Given the description of an element on the screen output the (x, y) to click on. 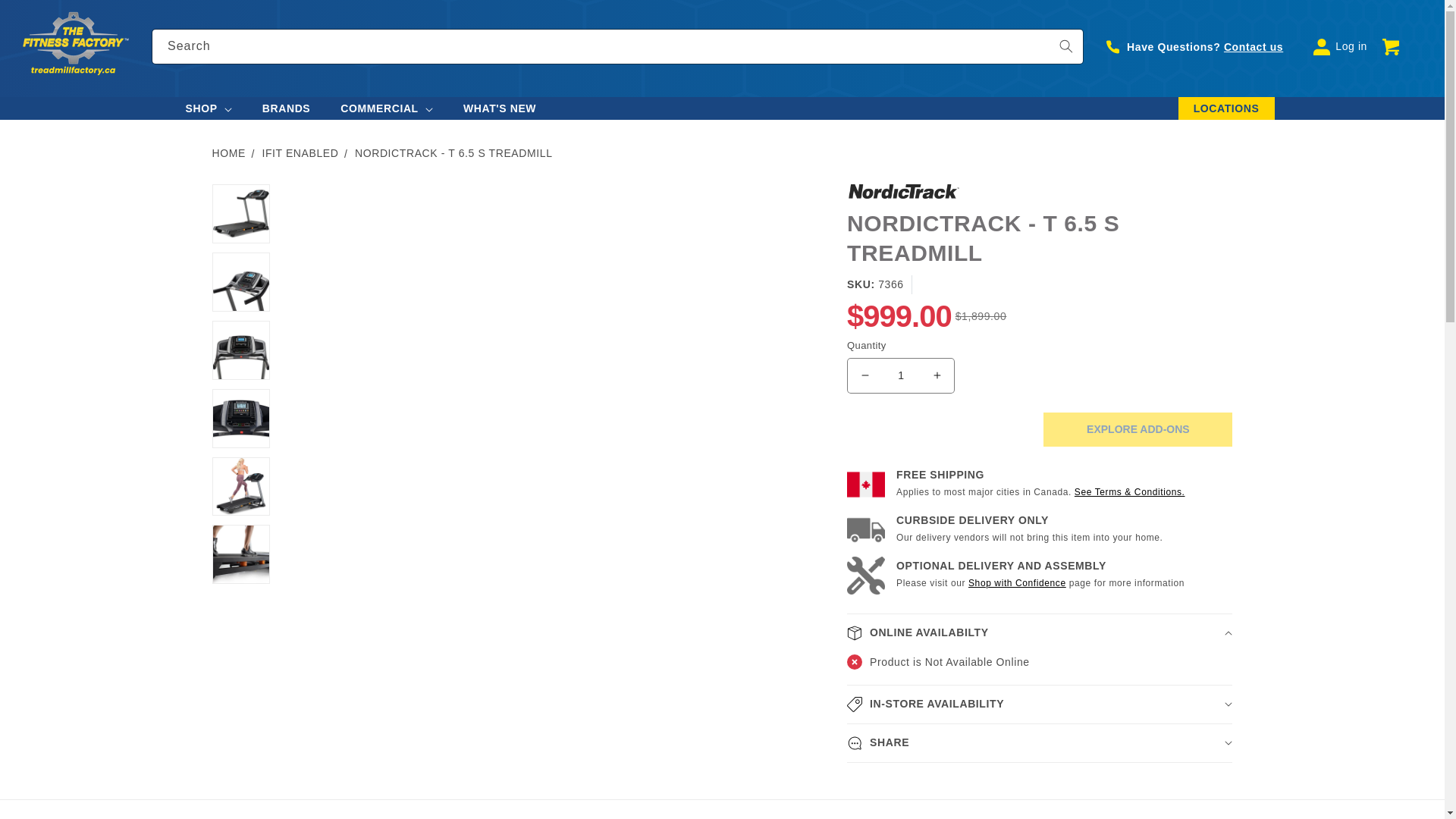
1 (901, 375)
SKIP TO CONTENT (61, 16)
Contact Us (1253, 46)
